Given the description of an element on the screen output the (x, y) to click on. 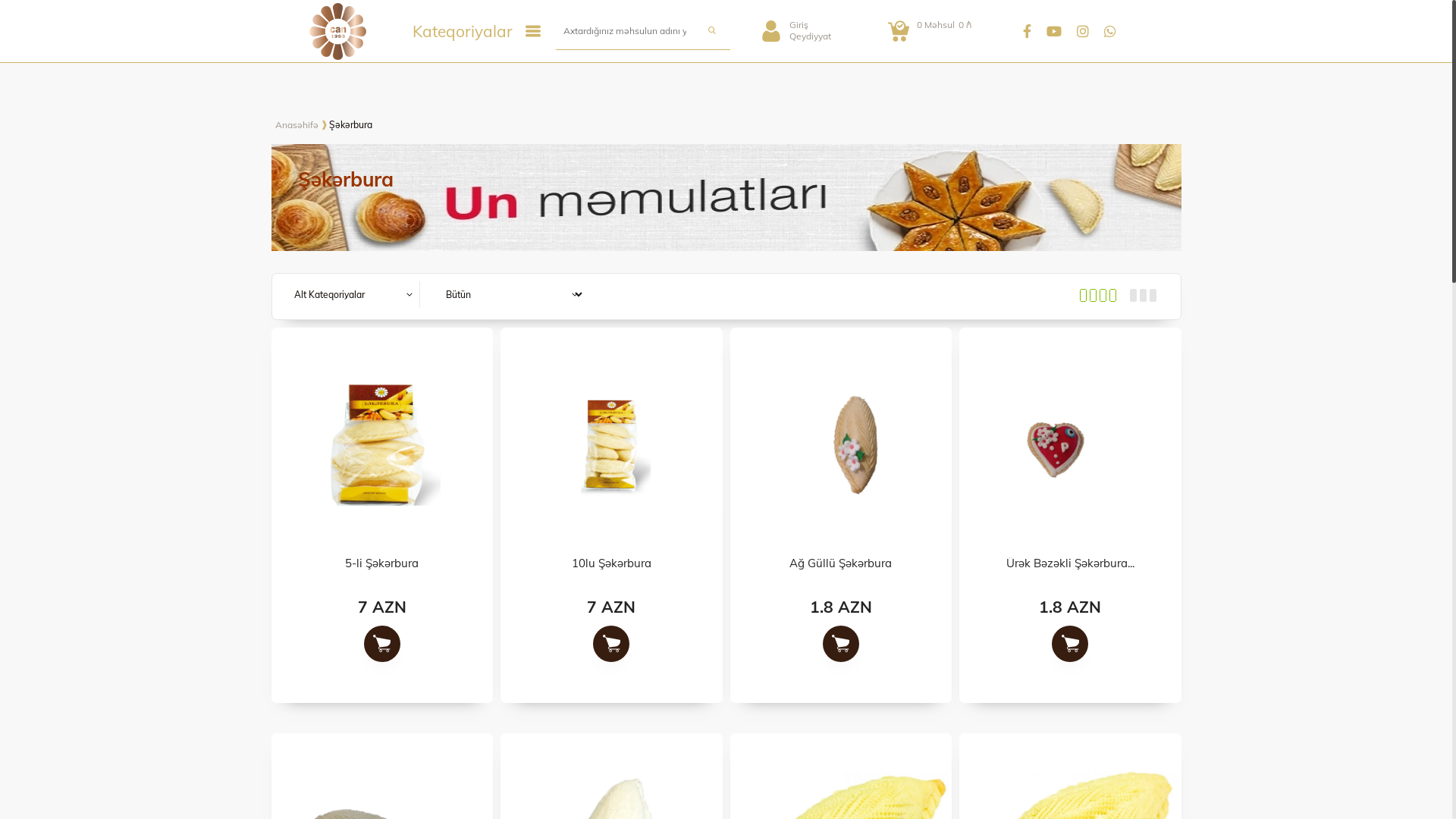
Qeydiyyat Element type: text (810, 35)
